Given the description of an element on the screen output the (x, y) to click on. 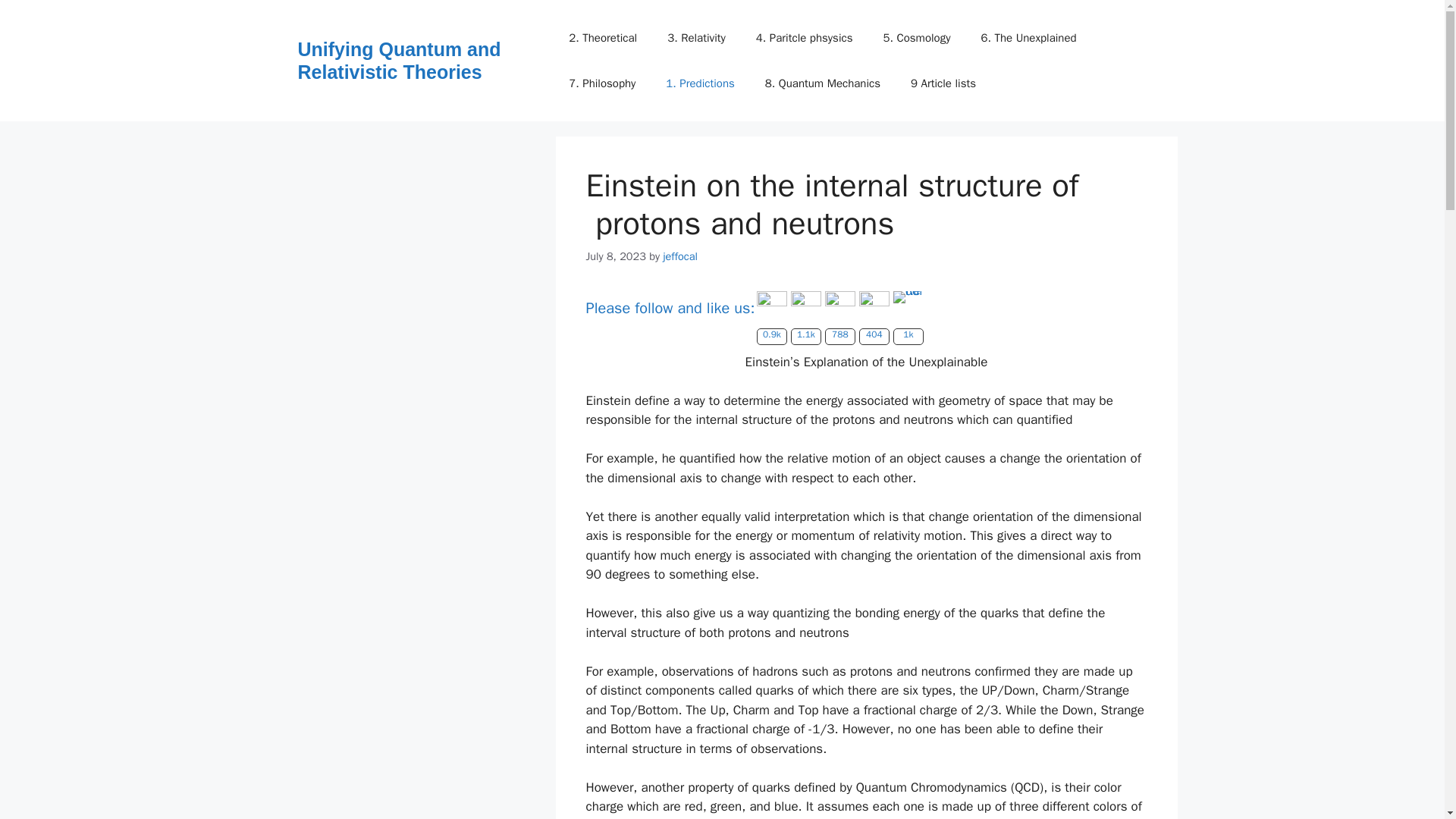
8. Quantum Mechanics (822, 83)
9 Article lists (943, 83)
6. The Unexplained (1027, 37)
3. Relativity (696, 37)
jeffocal (679, 255)
View all posts by jeffocal (679, 255)
1. Predictions (699, 83)
2. Theoretical (602, 37)
4. Paritcle phsysics (804, 37)
5. Cosmology (916, 37)
